Given the description of an element on the screen output the (x, y) to click on. 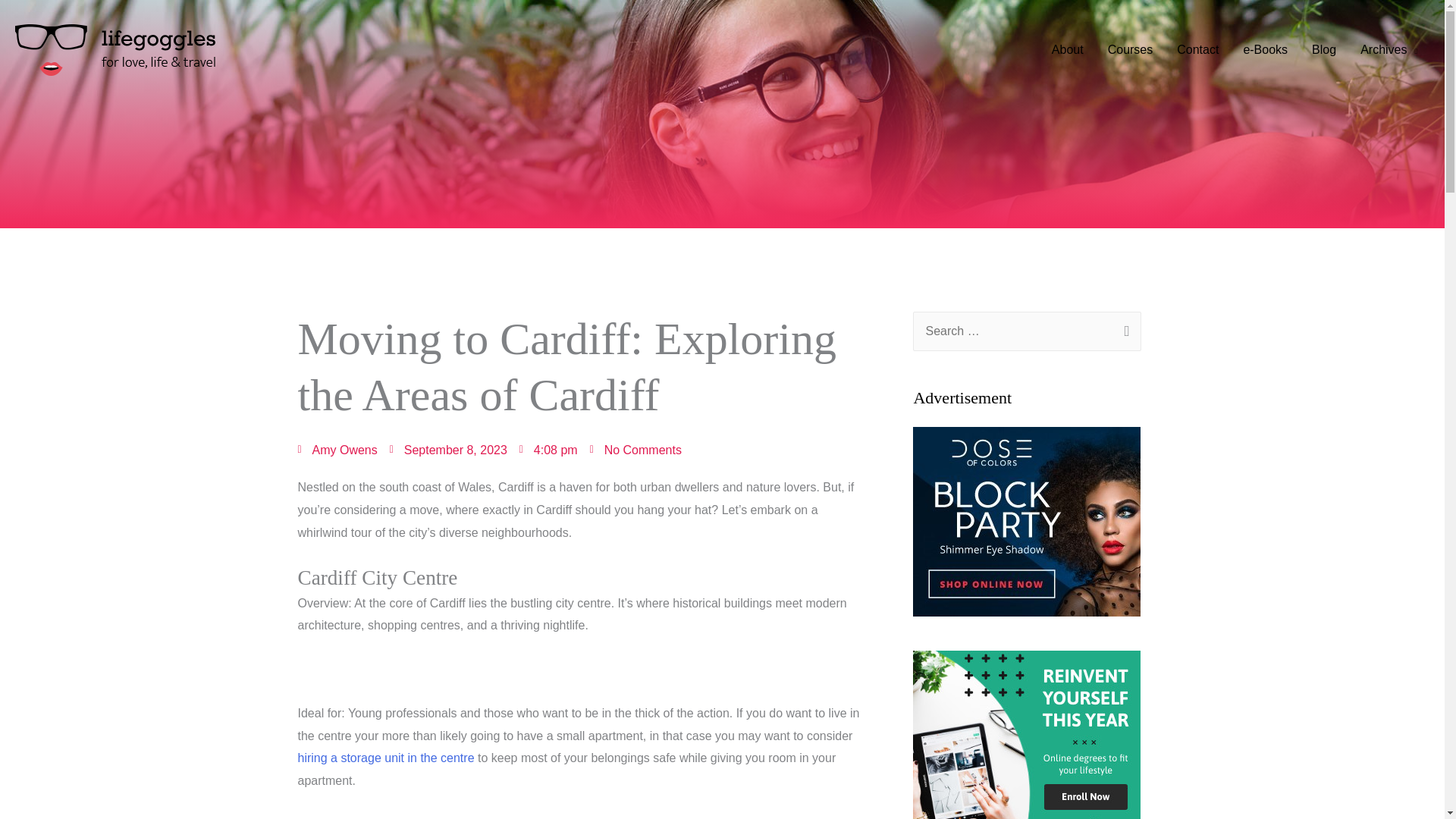
About (1067, 49)
Courses (1131, 49)
September 8, 2023 (448, 449)
hiring a storage unit in the centre (385, 757)
Contact (1197, 49)
No Comments (635, 449)
e-Books (1265, 49)
Blog (1324, 49)
Archives (1388, 49)
Amy Owens (337, 449)
